Given the description of an element on the screen output the (x, y) to click on. 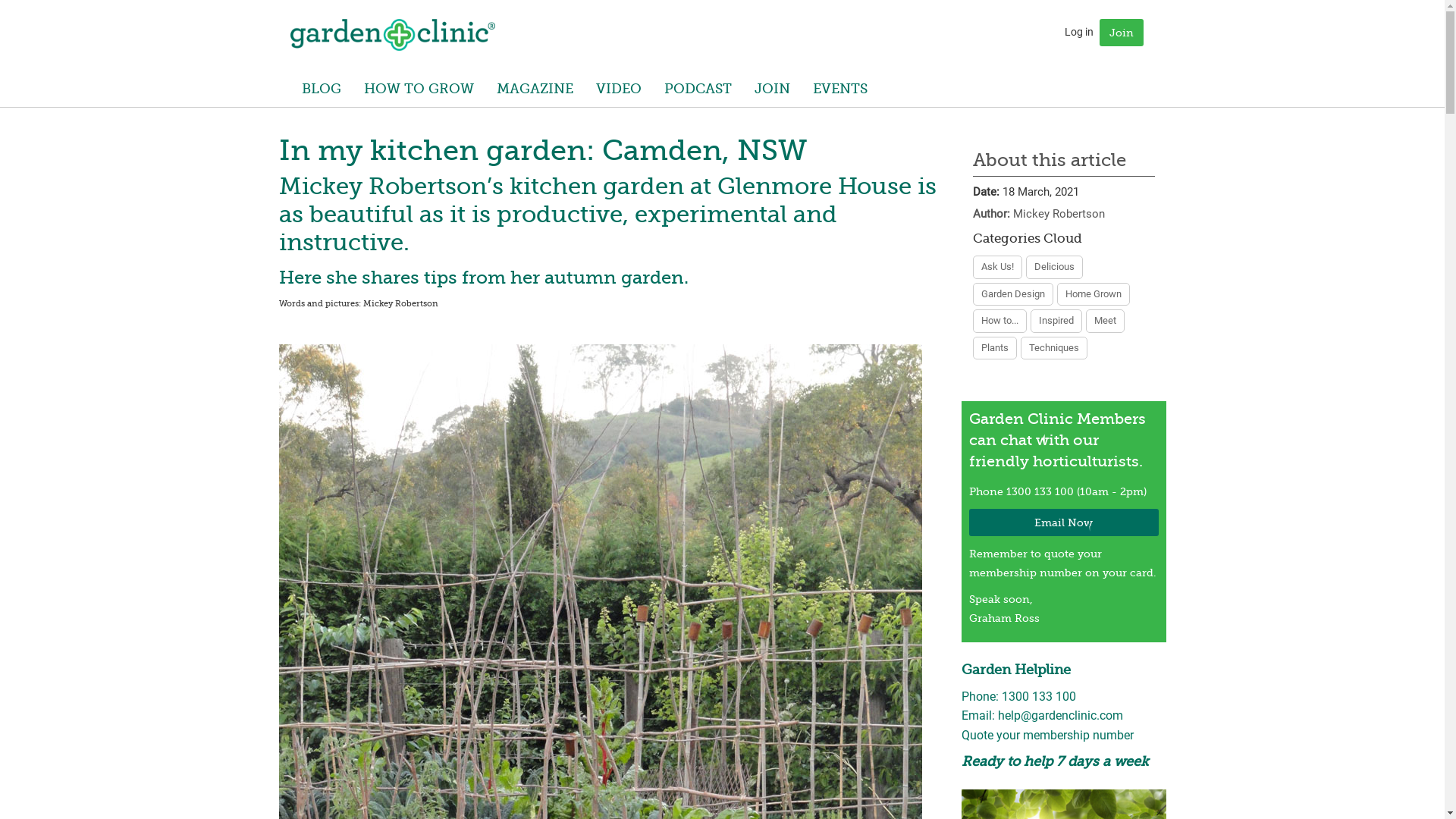
PODCAST Element type: text (697, 88)
Graham Ross Element type: hover (391, 34)
HOW TO GROW Element type: text (417, 88)
Log in Element type: text (1078, 31)
VIDEO Element type: text (617, 88)
BLOG Element type: text (320, 88)
Email Now Element type: text (1063, 522)
MAGAZINE Element type: text (534, 88)
JOIN Element type: text (772, 88)
EVENTS Element type: text (839, 88)
Join Element type: text (1121, 32)
Search Element type: text (27, 13)
